Given the description of an element on the screen output the (x, y) to click on. 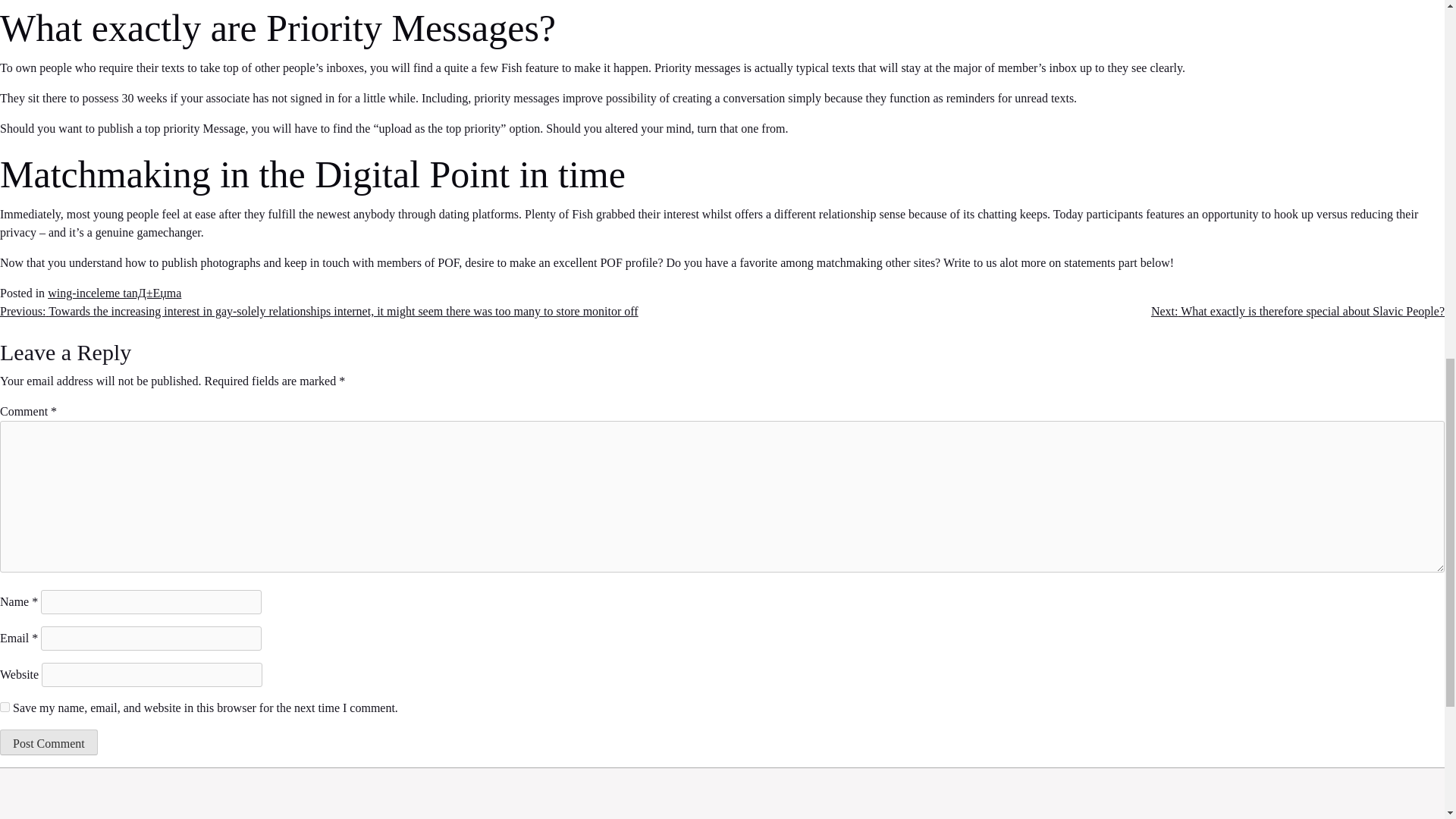
Post Comment (48, 742)
Post Comment (48, 742)
yes (5, 706)
